Given the description of an element on the screen output the (x, y) to click on. 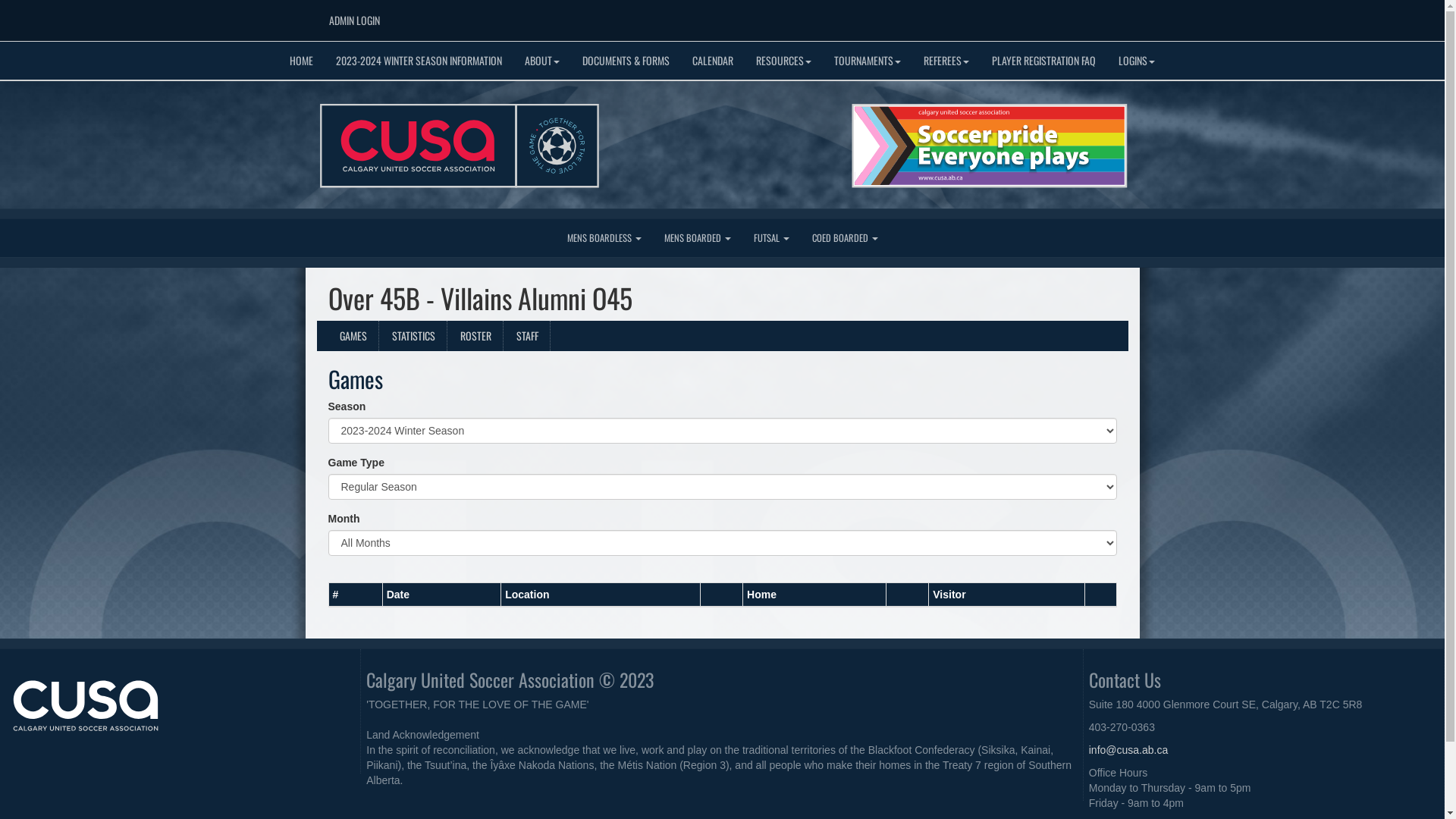
MENS BOARDED Element type: text (696, 238)
GAMES Element type: text (352, 335)
TOURNAMENTS Element type: text (867, 60)
Facebook Element type: text (1038, 15)
HOME Element type: text (301, 60)
DOCUMENTS & FORMS Element type: text (625, 60)
2023-2024 WINTER SEASON INFORMATION Element type: text (418, 60)
MENS BOARDLESS Element type: text (603, 238)
STATISTICS Element type: text (413, 335)
PLAYER REGISTRATION FAQ Element type: text (1043, 60)
FUTSAL Element type: text (770, 238)
ROSTER Element type: text (475, 335)
Twitter Element type: text (1061, 15)
REFEREES Element type: text (946, 60)
STAFF Element type: text (527, 335)
LOGINS Element type: text (1136, 60)
CALENDAR Element type: text (712, 60)
info@cusa.ab.ca Element type: text (1128, 749)
COED BOARDED Element type: text (844, 238)
RESOURCES Element type: text (783, 60)
LinkedIn Element type: text (1106, 15)
Instagram Element type: text (1084, 15)
ABOUT Element type: text (542, 60)
 ADMIN LOGIN
ADMIN LOGIN Element type: text (352, 20)
